Given the description of an element on the screen output the (x, y) to click on. 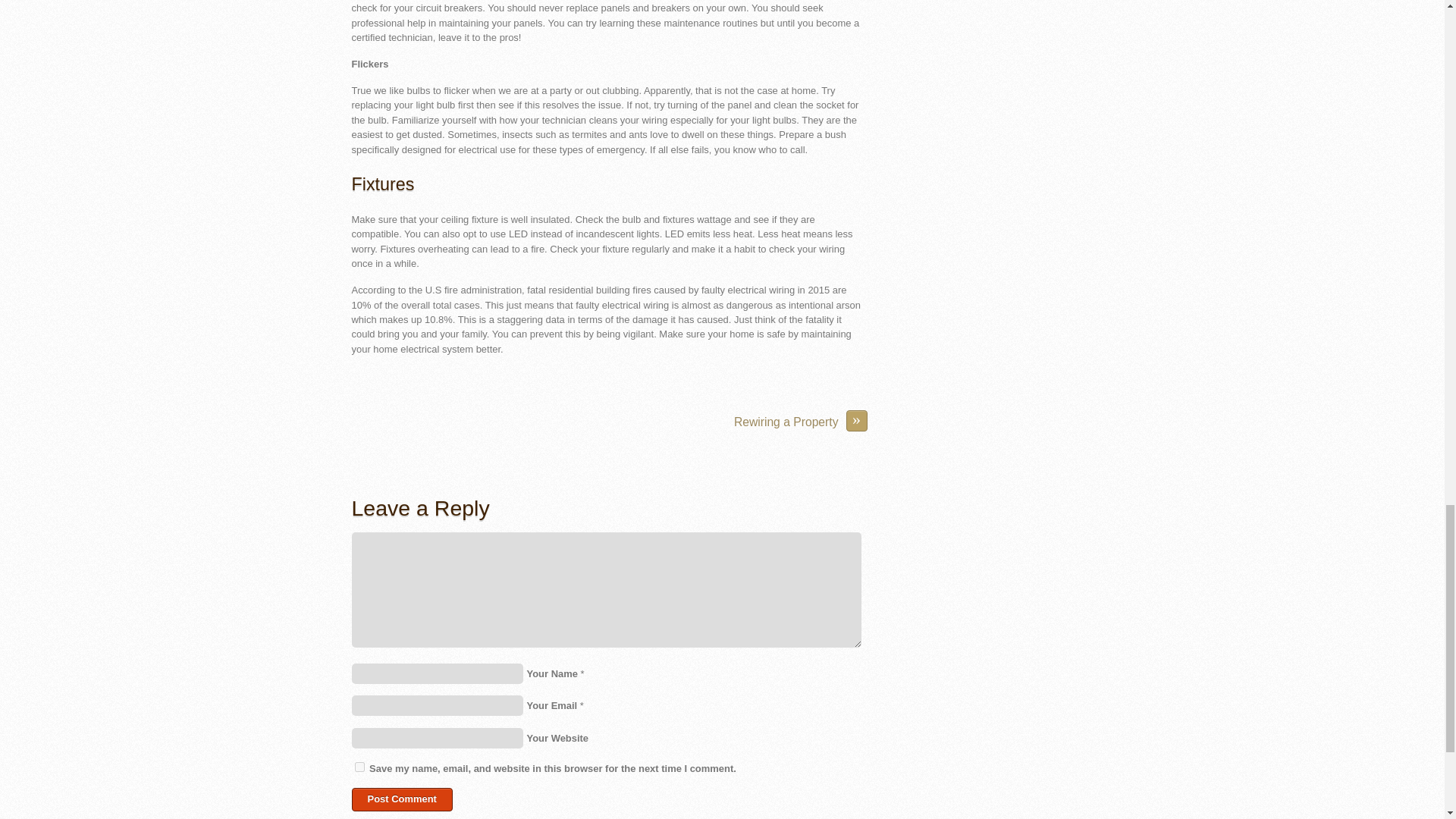
Post Comment (402, 799)
yes (360, 767)
Post Comment (402, 799)
